Given the description of an element on the screen output the (x, y) to click on. 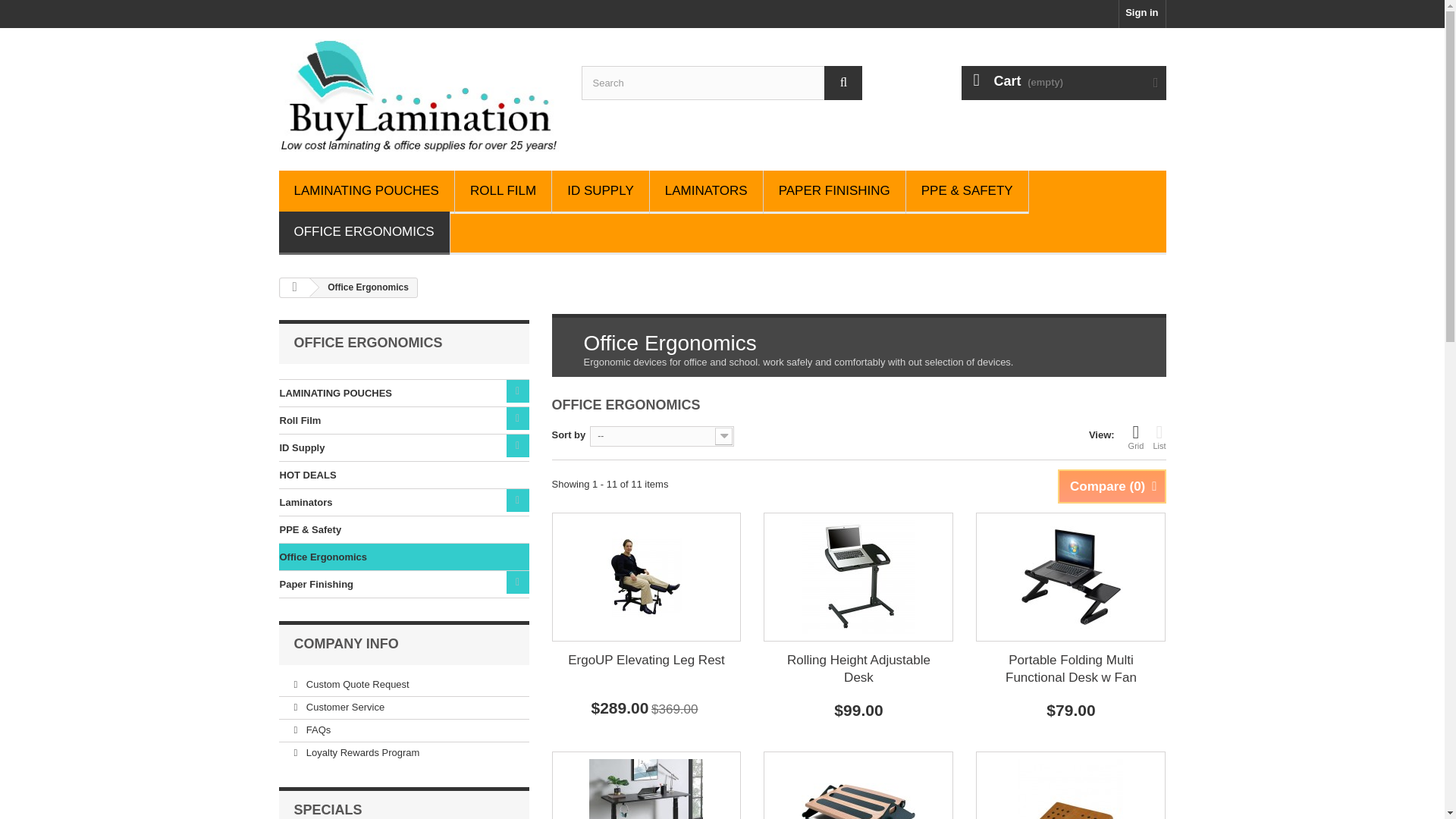
BuyLamination (419, 95)
LAMINATING POUCHES (366, 191)
Sign in (1141, 13)
LAMINATING POUCHES (366, 191)
View my shopping cart (1063, 82)
Log in to your customer account (1141, 13)
